Given the description of an element on the screen output the (x, y) to click on. 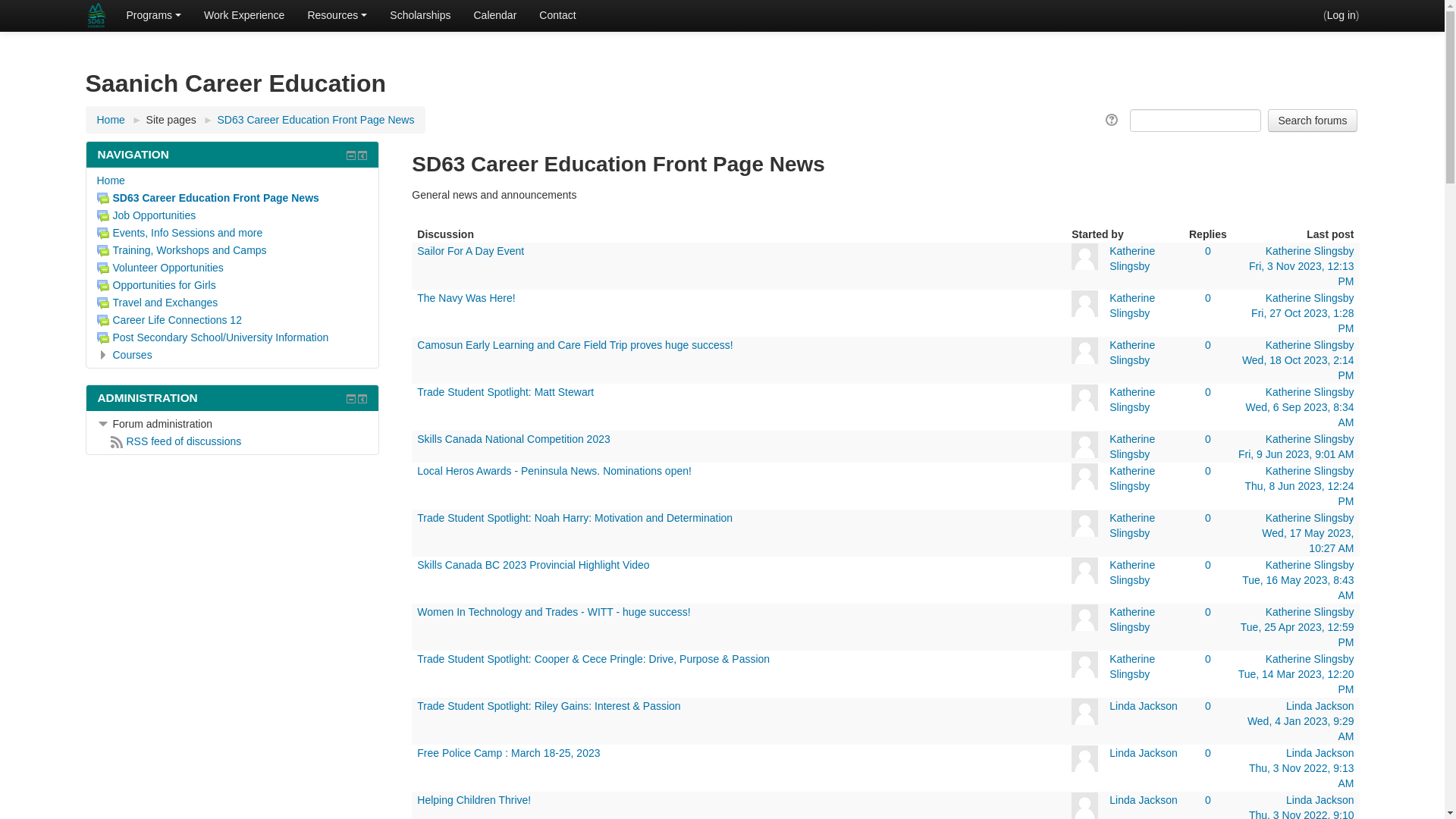
Dock Administration block Element type: hover (362, 398)
Katherine Slingsby Element type: text (1131, 305)
Job Opportunities Element type: text (146, 215)
0 Element type: text (1207, 391)
Programs Element type: text (153, 15)
Linda Jackson Element type: text (1143, 752)
Resources Element type: text (336, 15)
Wed, 17 May 2023, 10:27 AM Element type: text (1307, 540)
Katherine Slingsby Element type: text (1309, 391)
Katherine Slingsby Element type: text (1309, 517)
0 Element type: text (1207, 344)
0 Element type: text (1207, 470)
0 Element type: text (1207, 752)
0 Element type: text (1207, 611)
Events, Info Sessions and more Element type: text (180, 232)
Volunteer Opportunities Element type: text (160, 267)
Picture of Katherine Slingsby Element type: hover (1084, 617)
Fri, 3 Nov 2023, 12:13 PM Element type: text (1301, 273)
Linda Jackson Element type: text (1320, 752)
Linda Jackson Element type: text (1143, 799)
Katherine Slingsby Element type: text (1131, 258)
Picture of Katherine Slingsby Element type: hover (1084, 303)
Forum Element type: hover (103, 216)
Free Police Camp : March 18-25, 2023 Element type: text (508, 752)
Forum Element type: hover (103, 320)
Wed, 4 Jan 2023, 9:29 AM Element type: text (1300, 728)
0 Element type: text (1207, 297)
Forum Element type: hover (103, 338)
Picture of Katherine Slingsby Element type: hover (1084, 350)
Katherine Slingsby Element type: text (1131, 352)
Tue, 14 Mar 2023, 12:20 PM Element type: text (1296, 681)
Katherine Slingsby Element type: text (1309, 564)
Forum Element type: hover (103, 268)
Linda Jackson Element type: text (1143, 705)
Trade Student Spotlight: Matt Stewart Element type: text (505, 391)
Katherine Slingsby Element type: text (1131, 399)
Sailor For A Day Event Element type: text (470, 250)
RSS feed of discussions Element type: text (175, 441)
Katherine Slingsby Element type: text (1309, 611)
SD63 Career Education Front Page News Element type: text (208, 197)
Forum Element type: hover (103, 285)
Calendar Element type: text (494, 15)
Picture of Katherine Slingsby Element type: hover (1084, 570)
Hide Navigation block Element type: hover (350, 155)
Skills Canada National Competition 2023 Element type: text (513, 439)
Picture of Katherine Slingsby Element type: hover (1084, 256)
Katherine Slingsby Element type: text (1131, 572)
Forum Element type: hover (103, 303)
0 Element type: text (1207, 705)
0 Element type: text (1207, 517)
Katherine Slingsby Element type: text (1309, 470)
Trade Student Spotlight: Riley Gains: Interest & Passion Element type: text (548, 705)
Wed, 18 Oct 2023, 2:14 PM Element type: text (1298, 367)
Log in Element type: text (1341, 15)
Picture of Linda Jackson Element type: hover (1084, 758)
Katherine Slingsby Element type: text (1131, 525)
SD63 Career Education Front Page News Element type: text (315, 119)
Thu, 3 Nov 2022, 9:13 AM Element type: text (1301, 775)
Picture of Linda Jackson Element type: hover (1084, 711)
Picture of Katherine Slingsby Element type: hover (1084, 397)
Katherine Slingsby Element type: text (1131, 619)
Thu, 8 Jun 2023, 12:24 PM Element type: text (1299, 493)
Katherine Slingsby Element type: text (1309, 658)
Katherine Slingsby Element type: text (1309, 297)
Hide Administration block Element type: hover (350, 398)
Linda Jackson Element type: text (1320, 705)
Tue, 25 Apr 2023, 12:59 PM Element type: text (1297, 634)
Women In Technology and Trades - WITT - huge success! Element type: text (553, 611)
Dock Navigation block Element type: hover (362, 155)
Katherine Slingsby Element type: text (1309, 344)
Contact Element type: text (556, 15)
Training, Workshops and Camps Element type: text (181, 250)
0 Element type: text (1207, 564)
Fri, 27 Oct 2023, 1:28 PM Element type: text (1302, 320)
Work Experience Element type: text (243, 15)
Picture of Katherine Slingsby Element type: hover (1084, 476)
Helping Children Thrive! Element type: text (473, 799)
The Navy Was Here! Element type: text (465, 297)
Wed, 6 Sep 2023, 8:34 AM Element type: text (1299, 414)
Picture of Katherine Slingsby Element type: hover (1084, 664)
Scholarships Element type: text (419, 15)
Katherine Slingsby Element type: text (1131, 478)
Linda Jackson Element type: text (1320, 799)
Katherine Slingsby Element type: text (1309, 439)
Fri, 9 Jun 2023, 9:01 AM Element type: text (1296, 454)
Home Element type: text (111, 119)
Courses Element type: text (131, 354)
Search forums Element type: text (1311, 120)
Help with Search Element type: hover (1112, 119)
0 Element type: text (1207, 250)
Forum Element type: hover (103, 198)
0 Element type: text (1207, 439)
0 Element type: text (1207, 799)
Katherine Slingsby Element type: text (1131, 666)
Home Element type: text (111, 180)
Katherine Slingsby Element type: text (1309, 250)
0 Element type: text (1207, 658)
Skills Canada BC 2023 Provincial Highlight Video Element type: text (533, 564)
Tue, 16 May 2023, 8:43 AM Element type: text (1297, 587)
Picture of Katherine Slingsby Element type: hover (1084, 444)
Career Life Connections 12 Element type: text (169, 319)
Picture of Katherine Slingsby Element type: hover (1084, 523)
Forum Element type: hover (103, 233)
Travel and Exchanges Element type: text (157, 302)
Post Secondary School/University Information Element type: text (213, 337)
Katherine Slingsby Element type: text (1131, 446)
Local Heros Awards - Peninsula News. Nominations open! Element type: text (554, 470)
Opportunities for Girls Element type: text (156, 285)
Forum Element type: hover (103, 250)
